Given the description of an element on the screen output the (x, y) to click on. 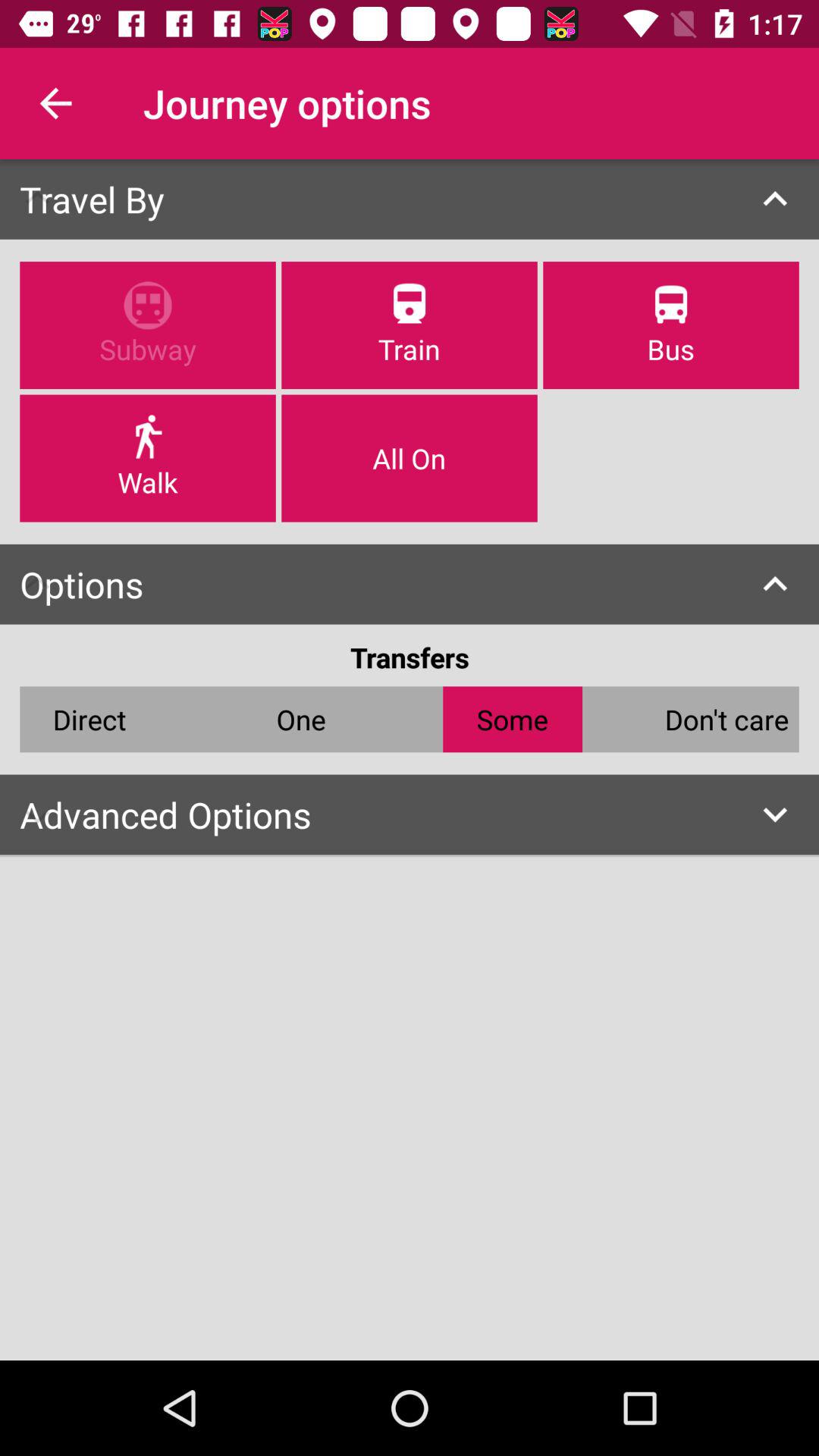
turn off the item above the advanced options icon (726, 719)
